Given the description of an element on the screen output the (x, y) to click on. 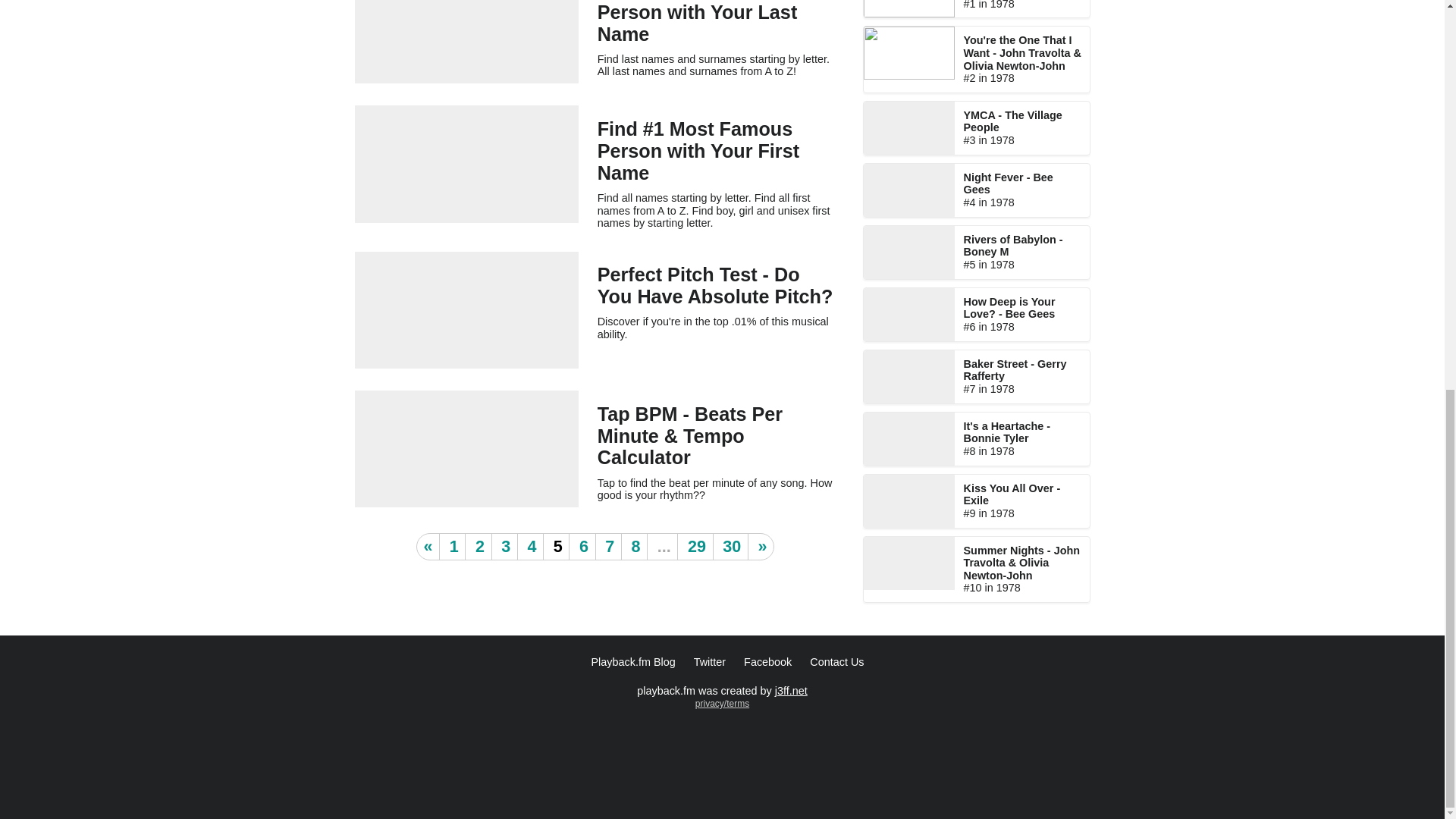
Perfect Pitch Test - Do You Have Absolute Pitch? (714, 285)
